Given the description of an element on the screen output the (x, y) to click on. 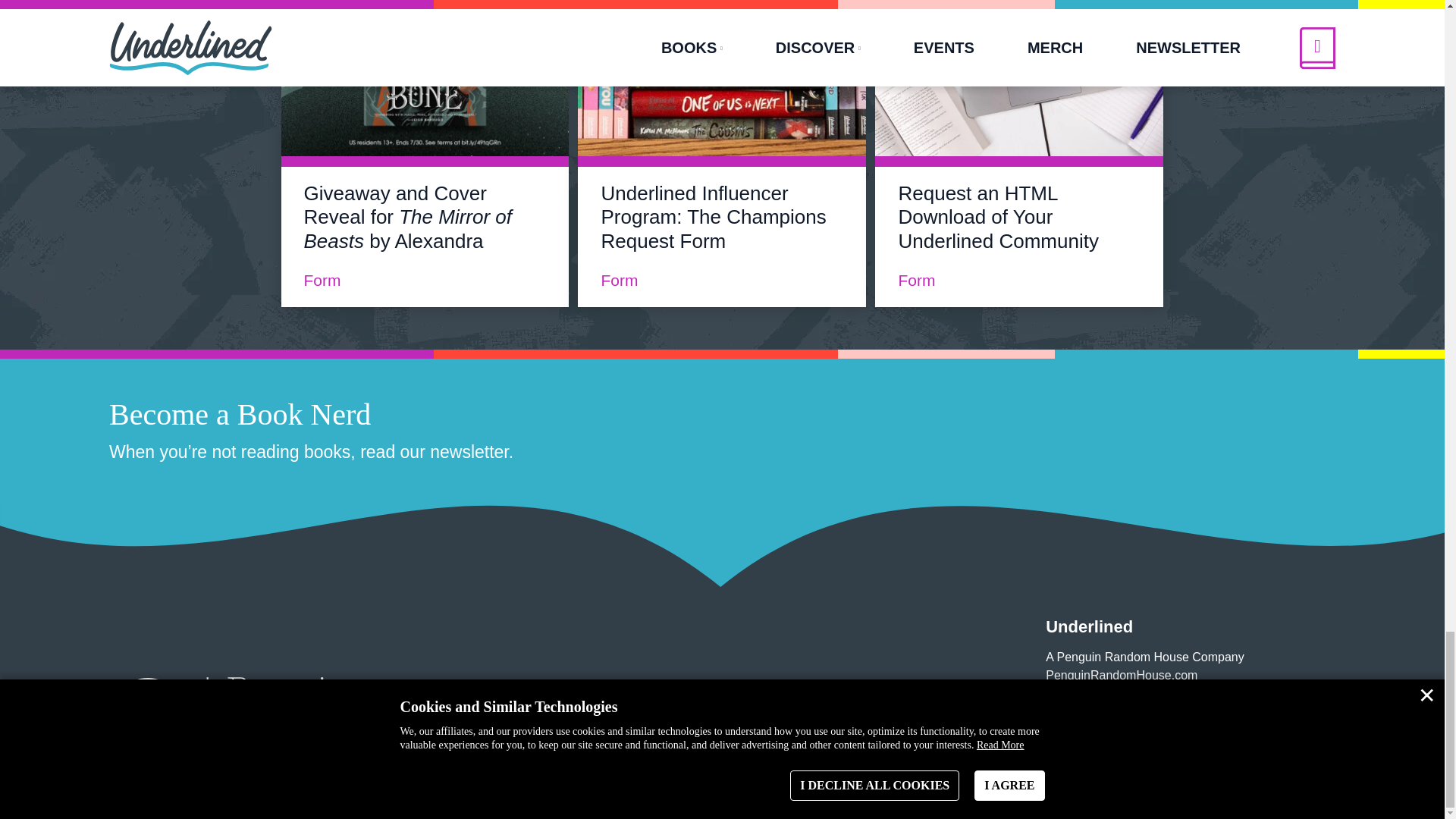
PenguinRandomHouse.com (1120, 675)
Underlined Influencer Program: The Champions Request Form (712, 216)
